Given the description of an element on the screen output the (x, y) to click on. 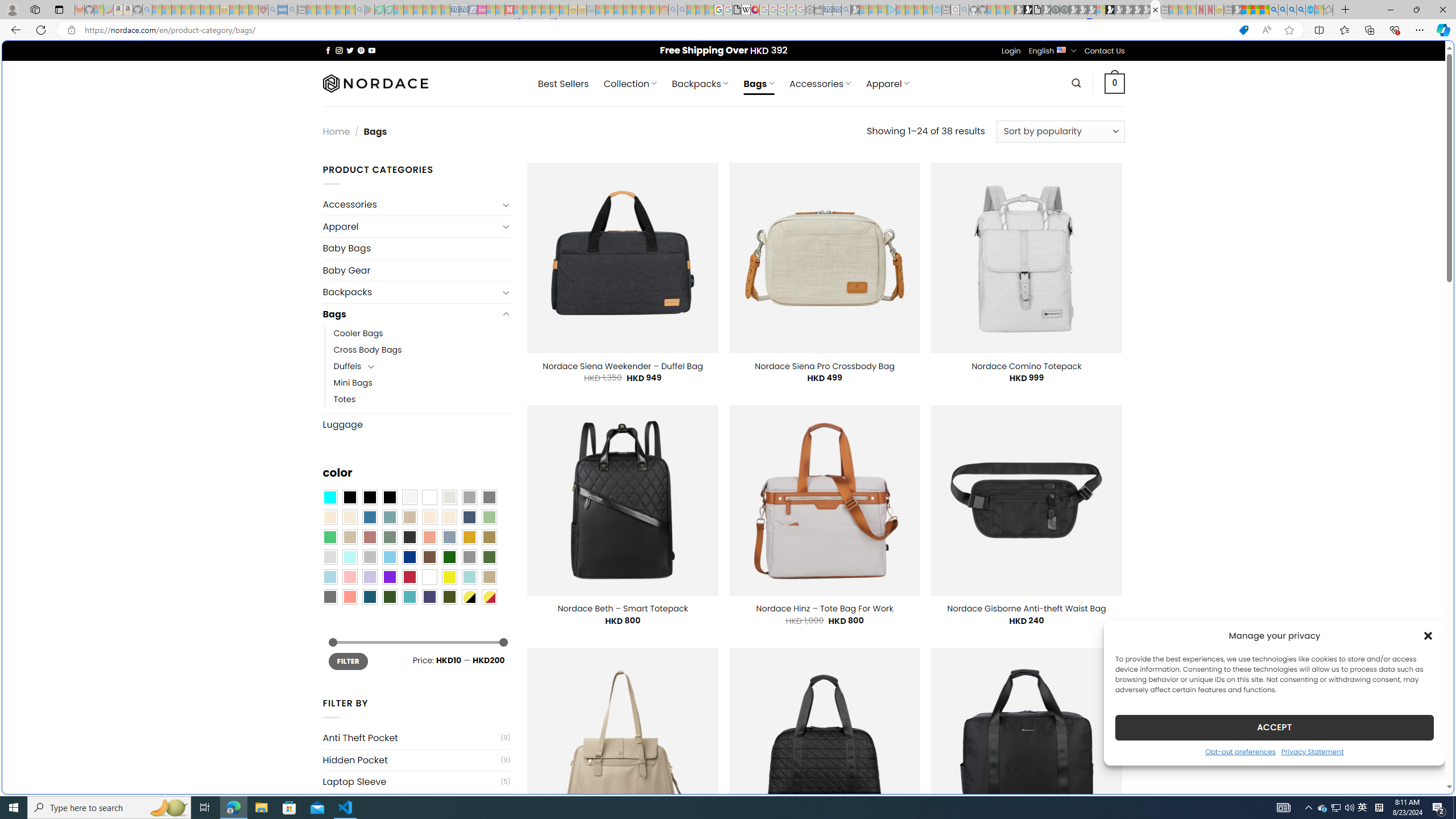
MSN - Sleeping (1236, 9)
 Best Sellers (563, 83)
Caramel (429, 517)
Rose (369, 536)
Close split screen (1208, 57)
Brownie (408, 517)
